Given the description of an element on the screen output the (x, y) to click on. 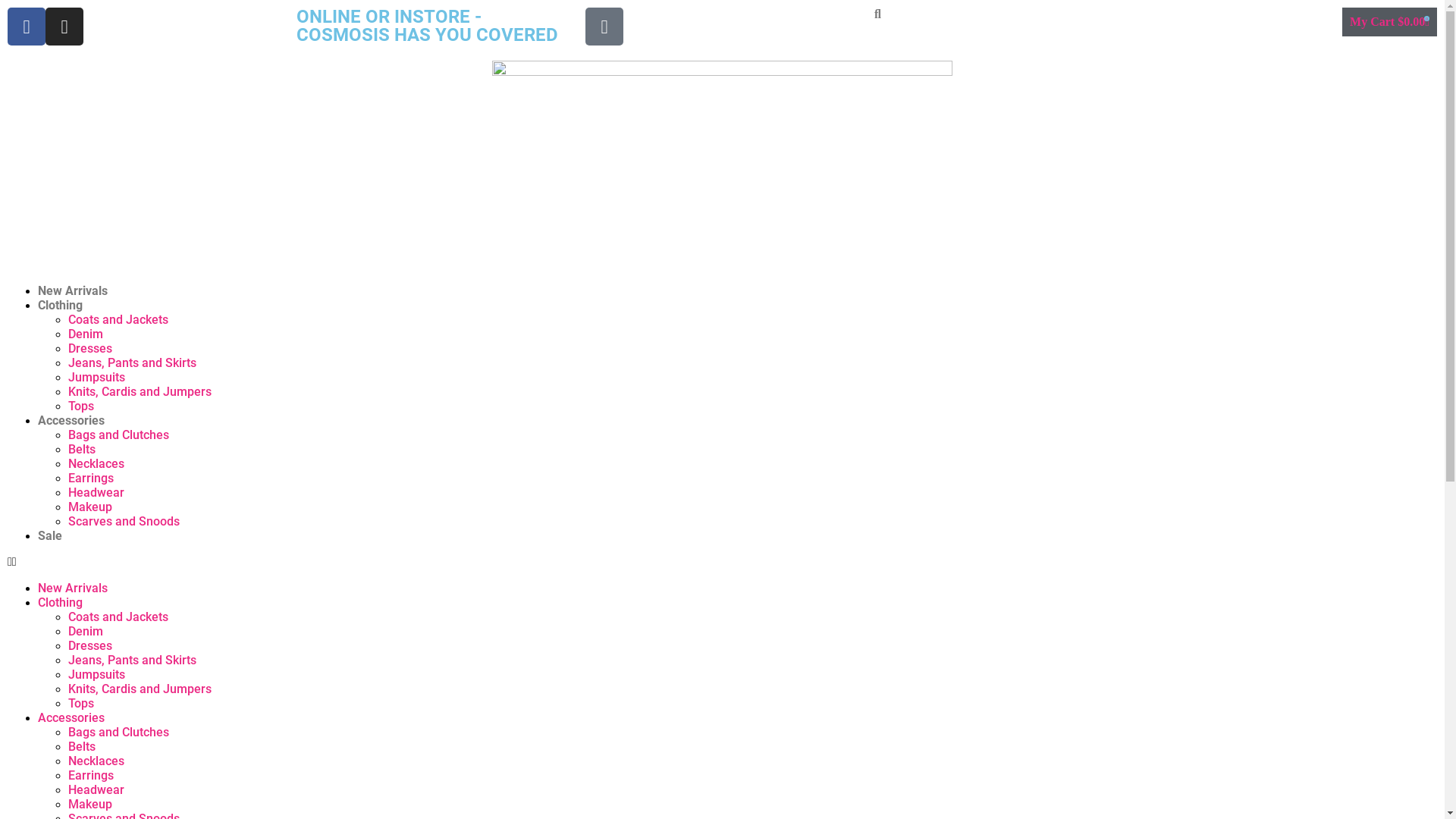
Makeup Element type: text (90, 804)
Necklaces Element type: text (96, 760)
Jeans, Pants and Skirts Element type: text (132, 362)
Coats and Jackets Element type: text (118, 319)
Jeans, Pants and Skirts Element type: text (132, 659)
Knits, Cardis and Jumpers Element type: text (139, 688)
Accessories Element type: text (70, 717)
Denim Element type: text (85, 333)
Jumpsuits Element type: text (96, 674)
Belts Element type: text (81, 746)
New Arrivals Element type: text (72, 587)
Earrings Element type: text (90, 775)
Coats and Jackets Element type: text (118, 616)
Clothing Element type: text (59, 305)
Headwear Element type: text (96, 789)
Accessories Element type: text (70, 420)
Necklaces Element type: text (96, 463)
Belts Element type: text (81, 449)
Dresses Element type: text (90, 645)
My Cart $0.00
0 Element type: text (1389, 21)
Scarves and Snoods Element type: text (123, 521)
Bags and Clutches Element type: text (118, 731)
Knits, Cardis and Jumpers Element type: text (139, 391)
New Arrivals Element type: text (72, 290)
Headwear Element type: text (96, 492)
Dresses Element type: text (90, 348)
Earrings Element type: text (90, 477)
Bags and Clutches Element type: text (118, 434)
Denim Element type: text (85, 631)
Jumpsuits Element type: text (96, 377)
Clothing Element type: text (59, 602)
Tops Element type: text (81, 405)
Sale Element type: text (49, 535)
Tops Element type: text (81, 703)
Makeup Element type: text (90, 506)
